Given the description of an element on the screen output the (x, y) to click on. 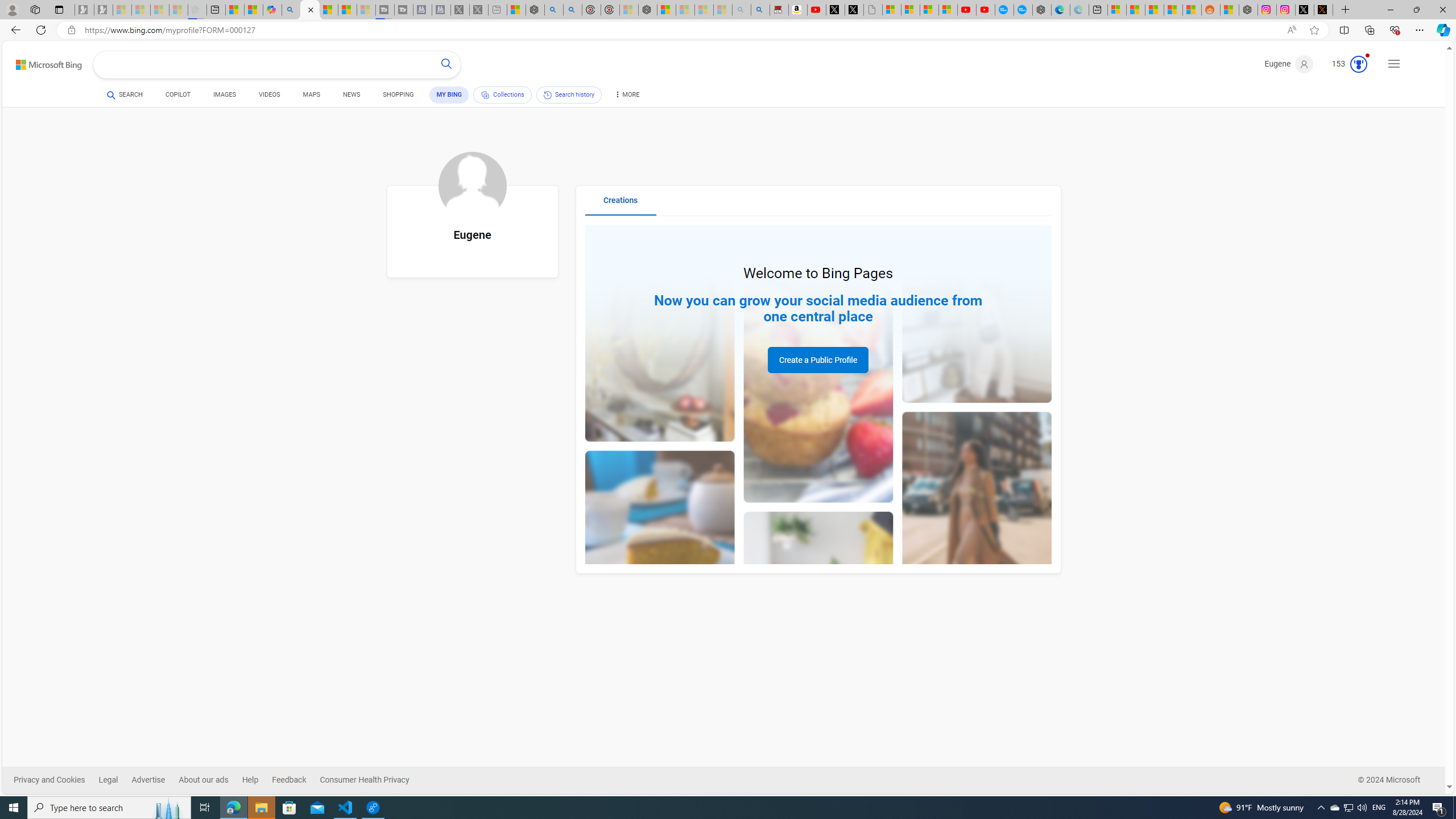
Search history (568, 94)
Eugene (1288, 63)
SHOPPING (397, 94)
Class: b_pri_nav_svg (484, 94)
Consumer Health Privacy (364, 779)
The most popular Google 'how to' searches (1022, 9)
SEARCH (124, 94)
